Given the description of an element on the screen output the (x, y) to click on. 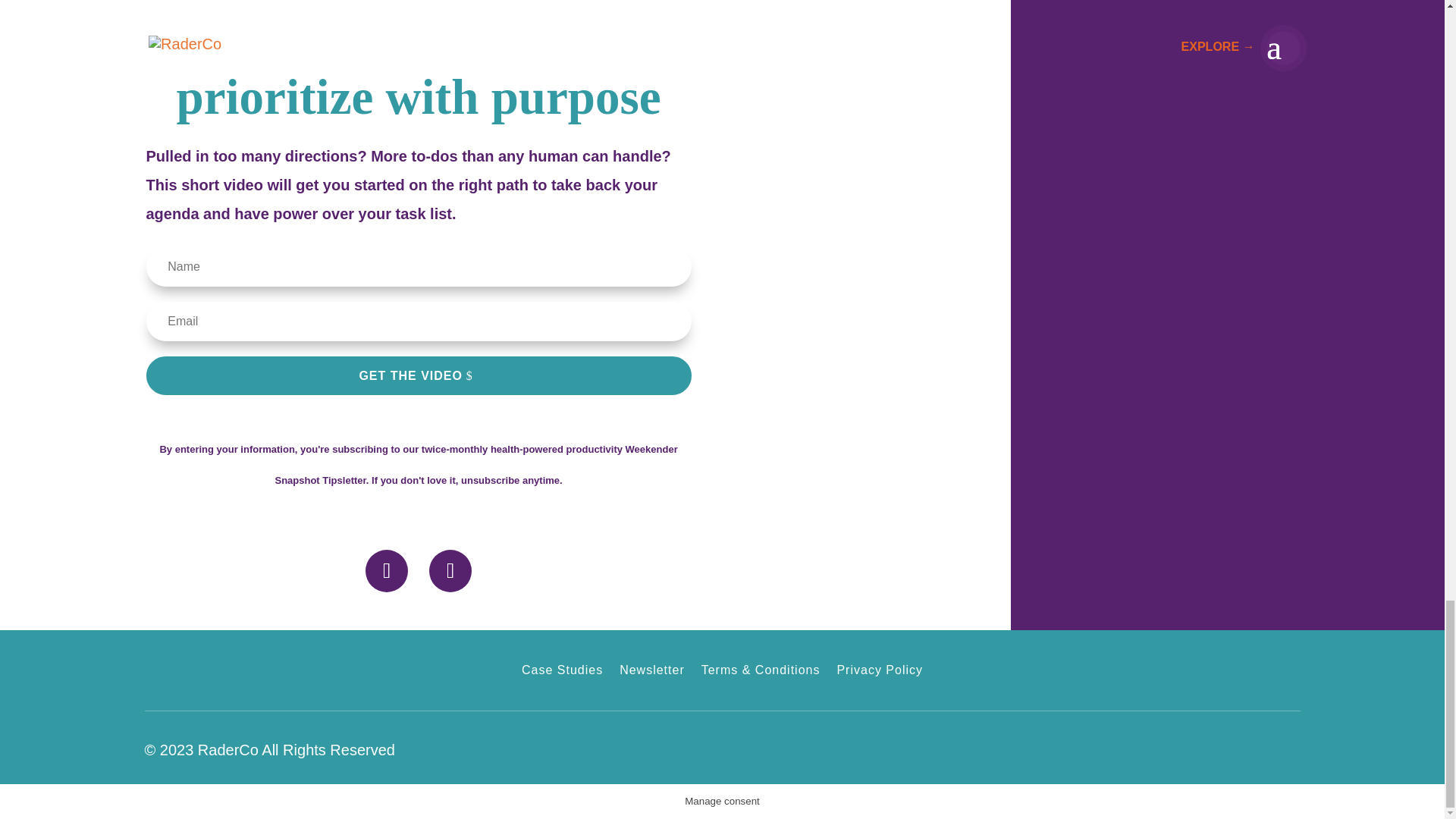
Newsletter (652, 673)
Case Studies (561, 673)
GET THE VIDEO (417, 375)
Privacy Policy (879, 673)
Follow on Youtube (450, 570)
Follow on LinkedIn (386, 570)
